Given the description of an element on the screen output the (x, y) to click on. 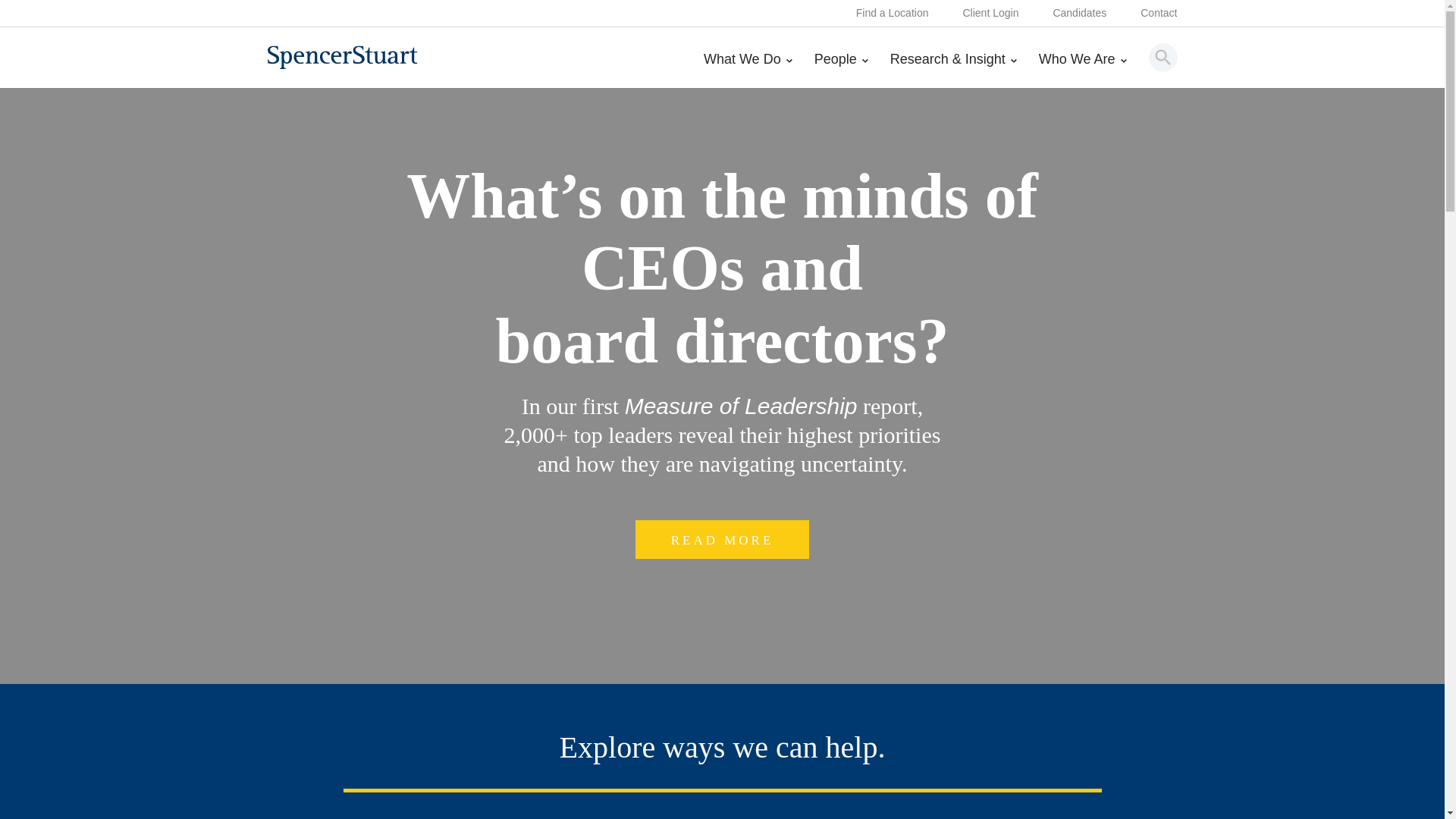
What We Do (747, 69)
Expand Search Bar (1163, 56)
Contact (1158, 13)
Find a Location (892, 13)
Client Login (989, 13)
Candidates (1079, 13)
